Given the description of an element on the screen output the (x, y) to click on. 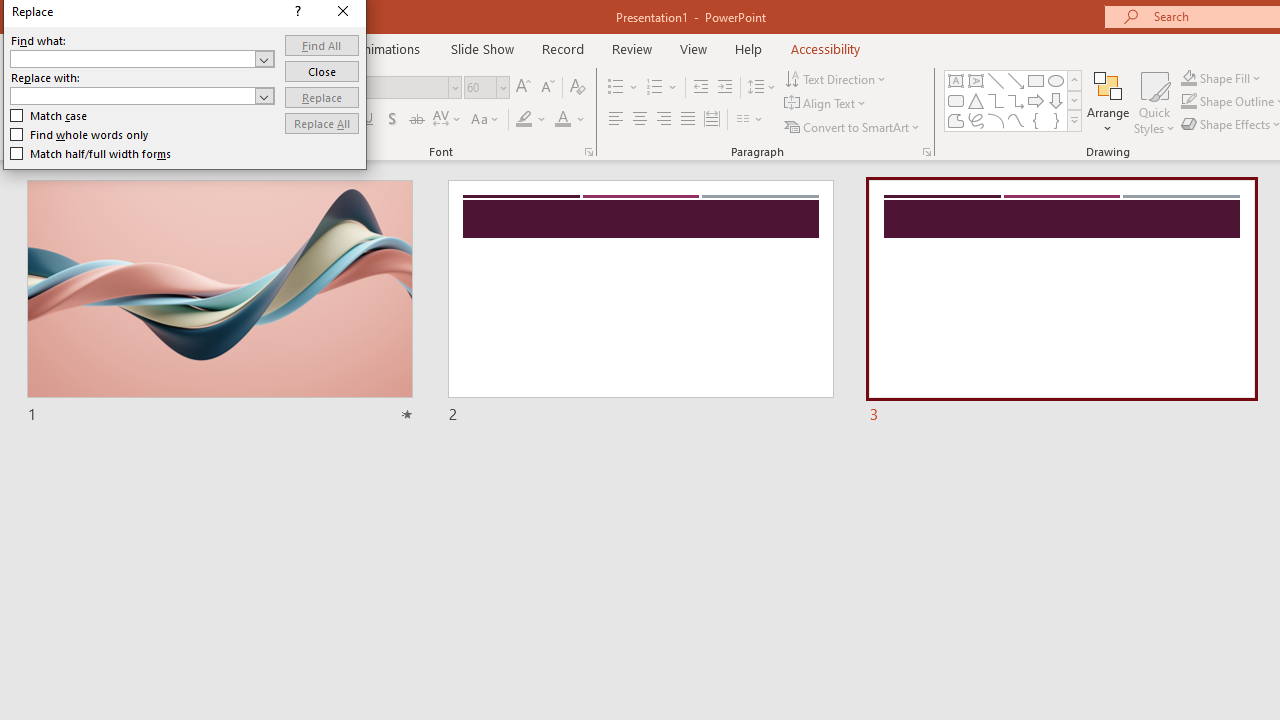
Find whole words only (79, 134)
Justify (687, 119)
Distributed (712, 119)
Rectangle: Rounded Corners (955, 100)
Strikethrough (416, 119)
Shape Outline Blue, Accent 1 (1188, 101)
Paragraph... (926, 151)
Arrow: Down (1055, 100)
Font Color Red (562, 119)
Find what (132, 58)
Replace (321, 96)
Increase Indent (725, 87)
Columns (750, 119)
